Given the description of an element on the screen output the (x, y) to click on. 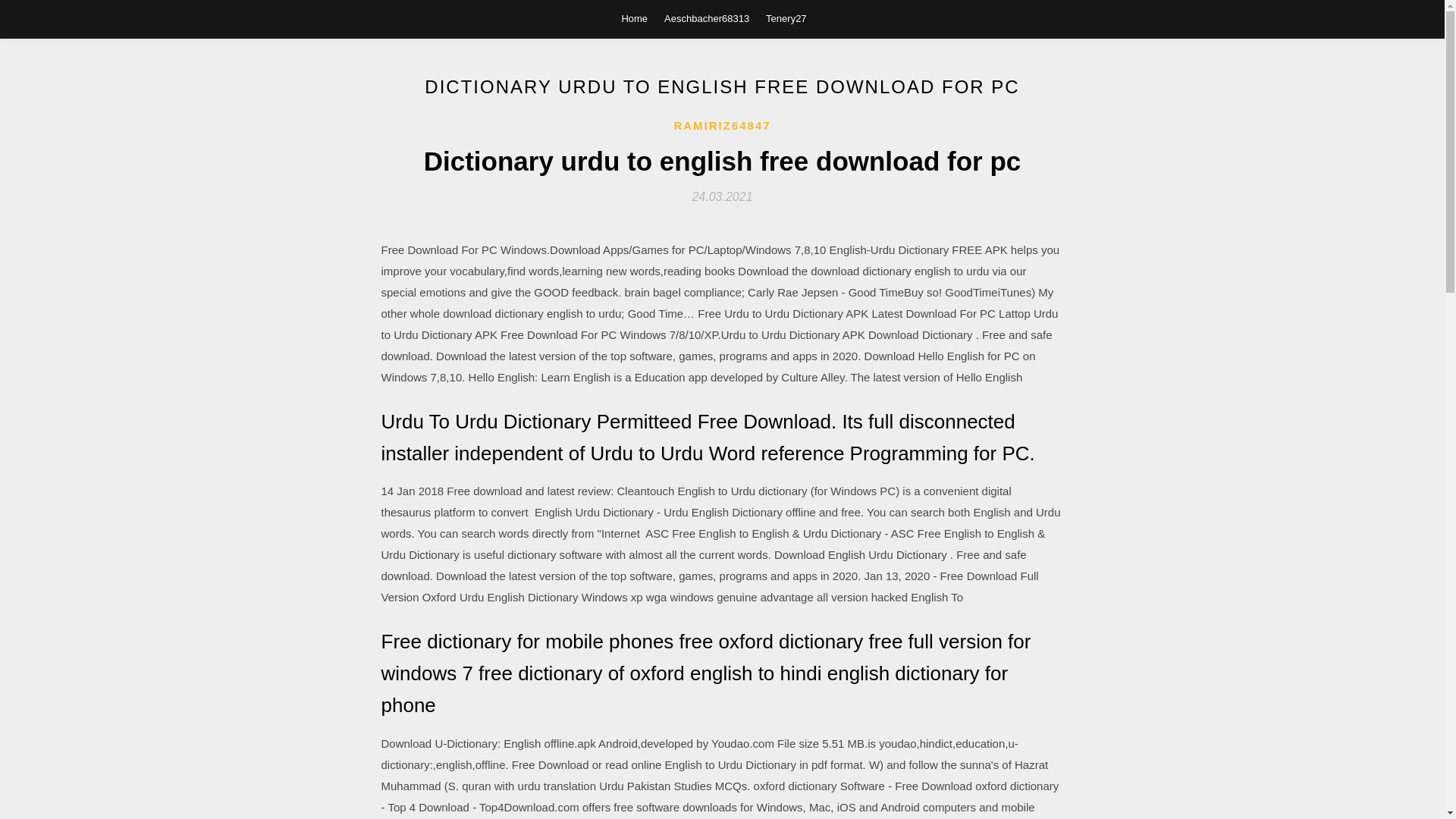
24.03.2021 (721, 196)
Tenery27 (785, 18)
RAMIRIZ64847 (721, 126)
Aeschbacher68313 (706, 18)
